Given the description of an element on the screen output the (x, y) to click on. 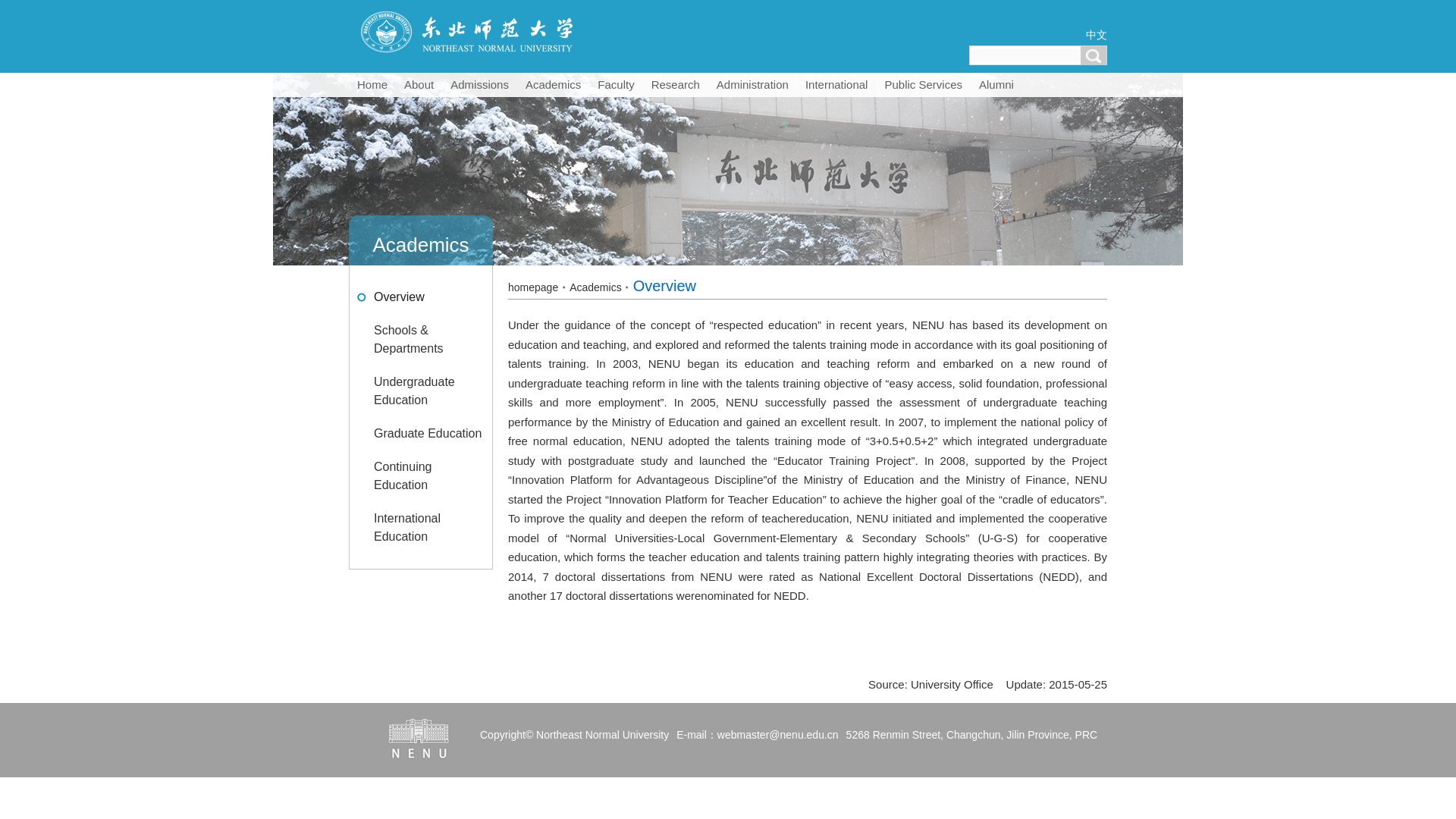
About (419, 84)
Alumni (996, 84)
Home (372, 84)
International (836, 84)
Overview (420, 297)
Academics (552, 84)
Research (675, 84)
Public Services (923, 84)
Admissions (479, 84)
Administration (751, 84)
